Given the description of an element on the screen output the (x, y) to click on. 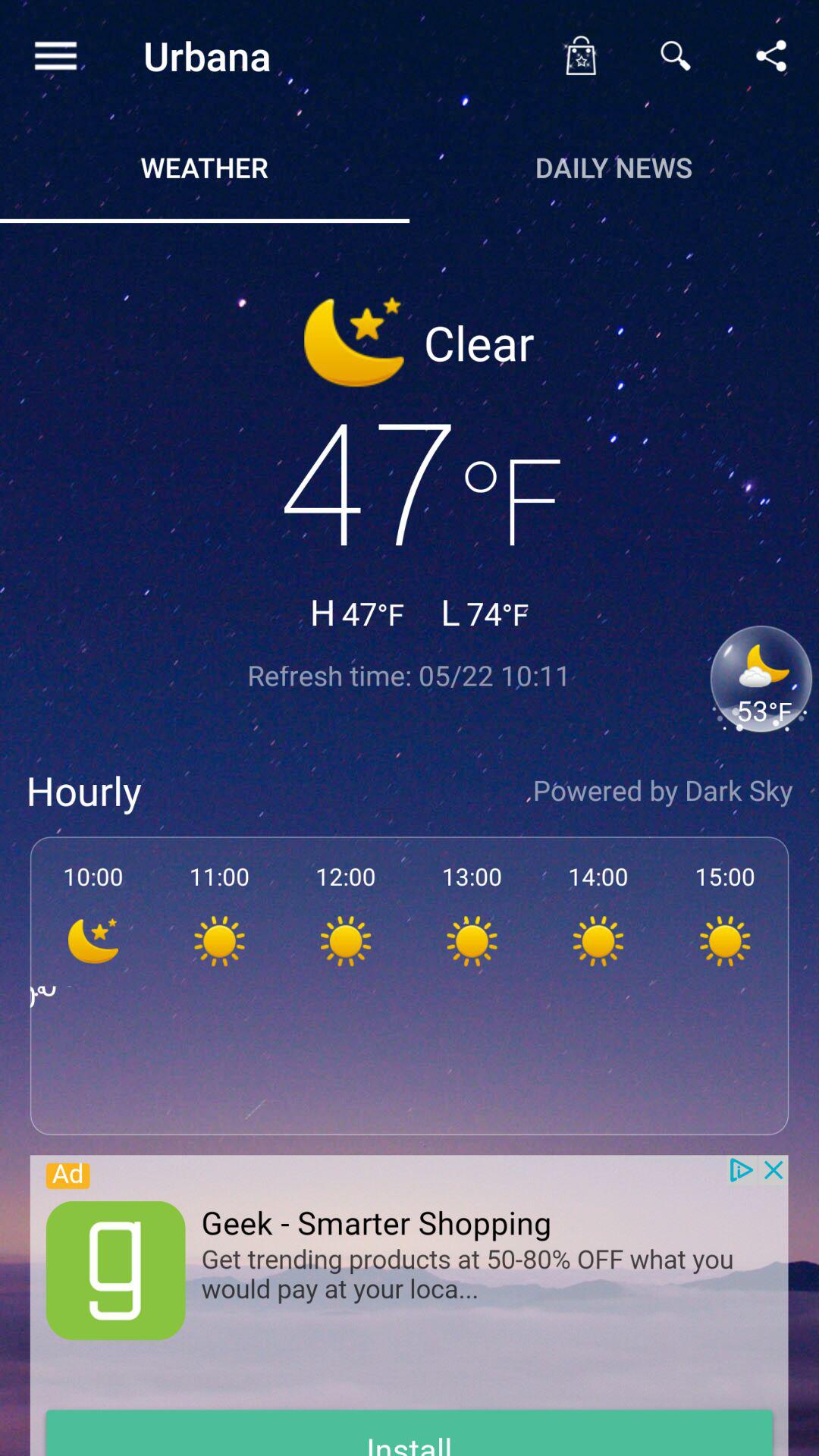
lockscreen (579, 55)
